Given the description of an element on the screen output the (x, y) to click on. 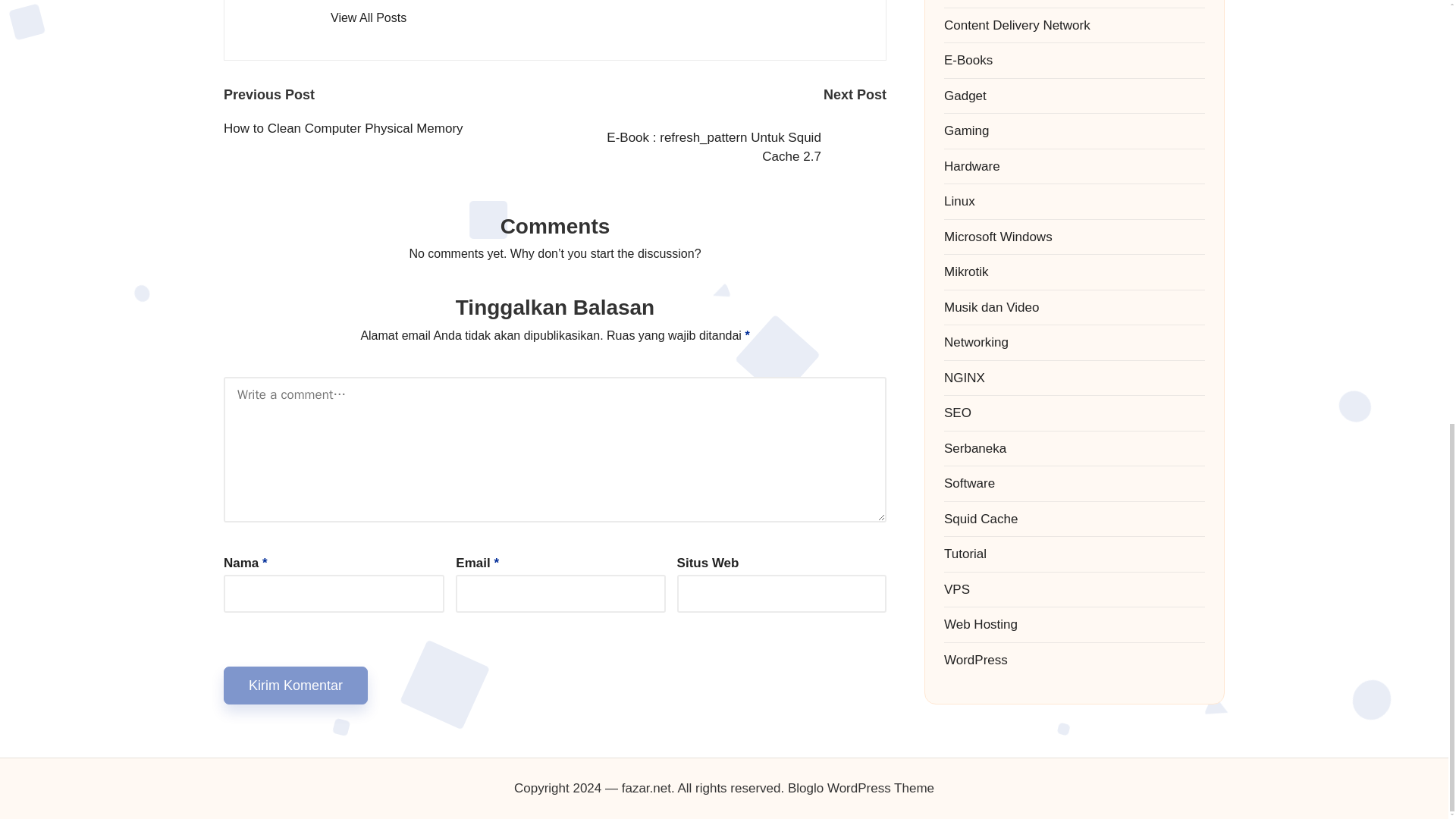
Kirim Komentar (296, 685)
View All Posts (368, 18)
How to Clean Computer Physical Memory (389, 128)
Kirim Komentar (296, 685)
ebook icon (864, 147)
